Given the description of an element on the screen output the (x, y) to click on. 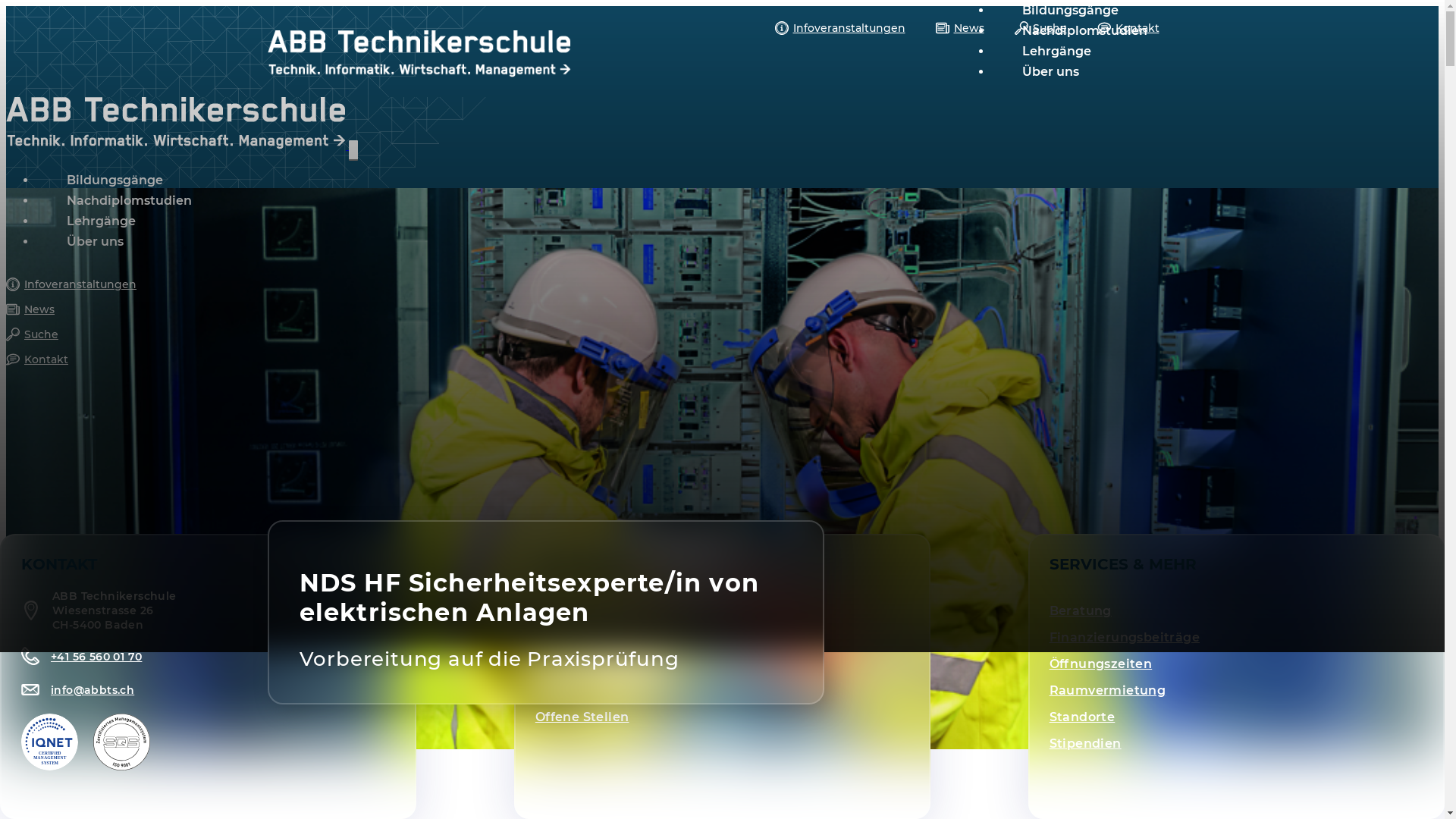
+41 56 560 01 70 Element type: text (81, 655)
Raumvermietung Element type: text (1107, 690)
Infoveranstaltungen Element type: text (602, 663)
Kontakt Element type: text (1127, 27)
Infoveranstaltungen Element type: text (722, 284)
Kontakt Element type: text (722, 358)
News Element type: text (553, 690)
Standorte Element type: text (1082, 716)
Ferienplan & Termine Element type: text (605, 637)
Beratung Element type: text (1080, 610)
Nachdiplomstudien Element type: text (128, 199)
Offene Stellen Element type: text (582, 716)
Infoveranstaltungen Element type: text (840, 27)
News Element type: text (722, 308)
Nachdiplomstudien Element type: text (1084, 30)
Events & Messen Element type: text (589, 610)
News Element type: text (959, 27)
info@abbts.ch Element type: text (77, 689)
Suche Element type: text (722, 334)
Suche Element type: text (1040, 27)
Stipendien Element type: text (1085, 743)
